Given the description of an element on the screen output the (x, y) to click on. 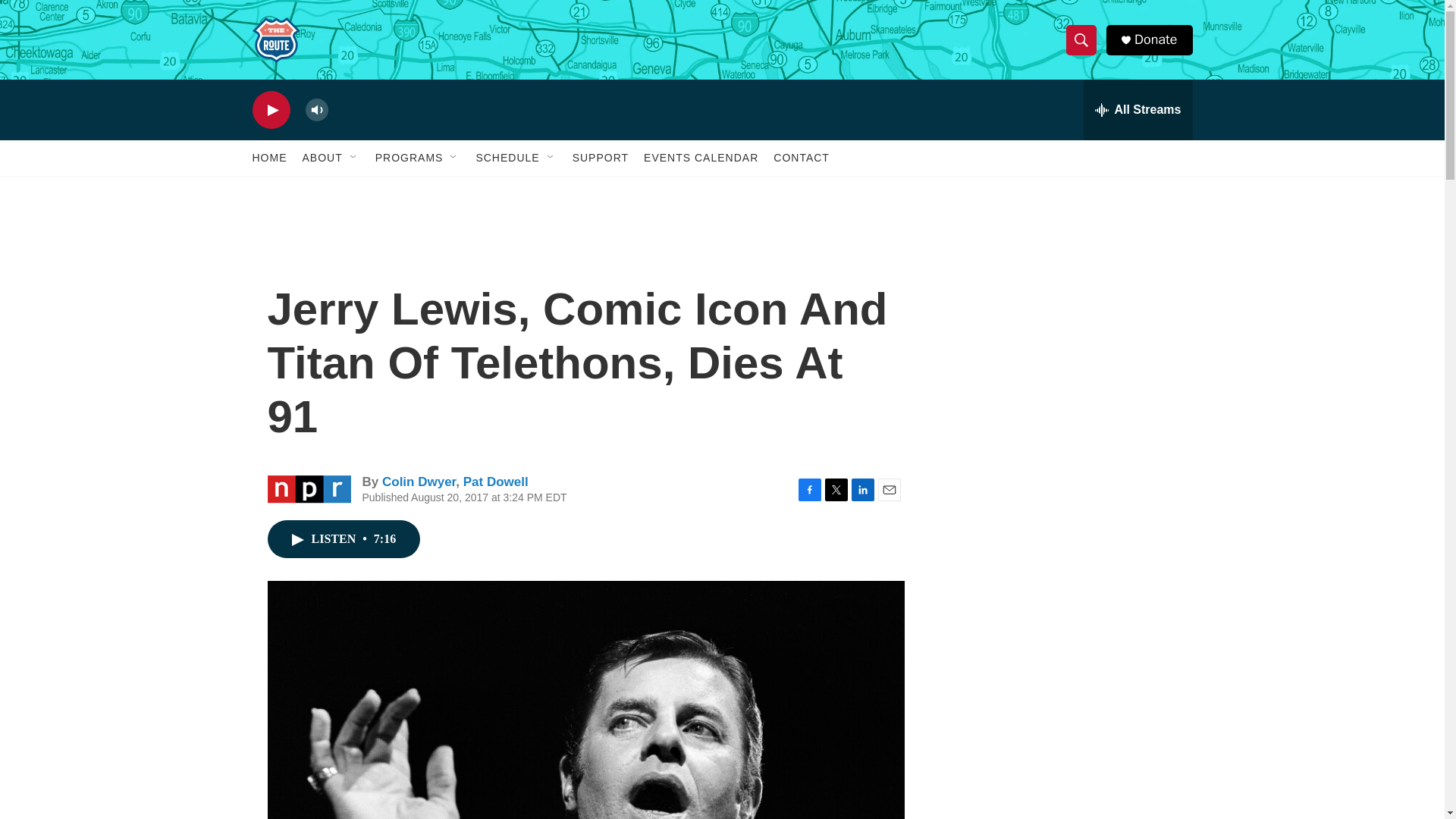
Donate (1155, 39)
Show Search (1080, 39)
